Given the description of an element on the screen output the (x, y) to click on. 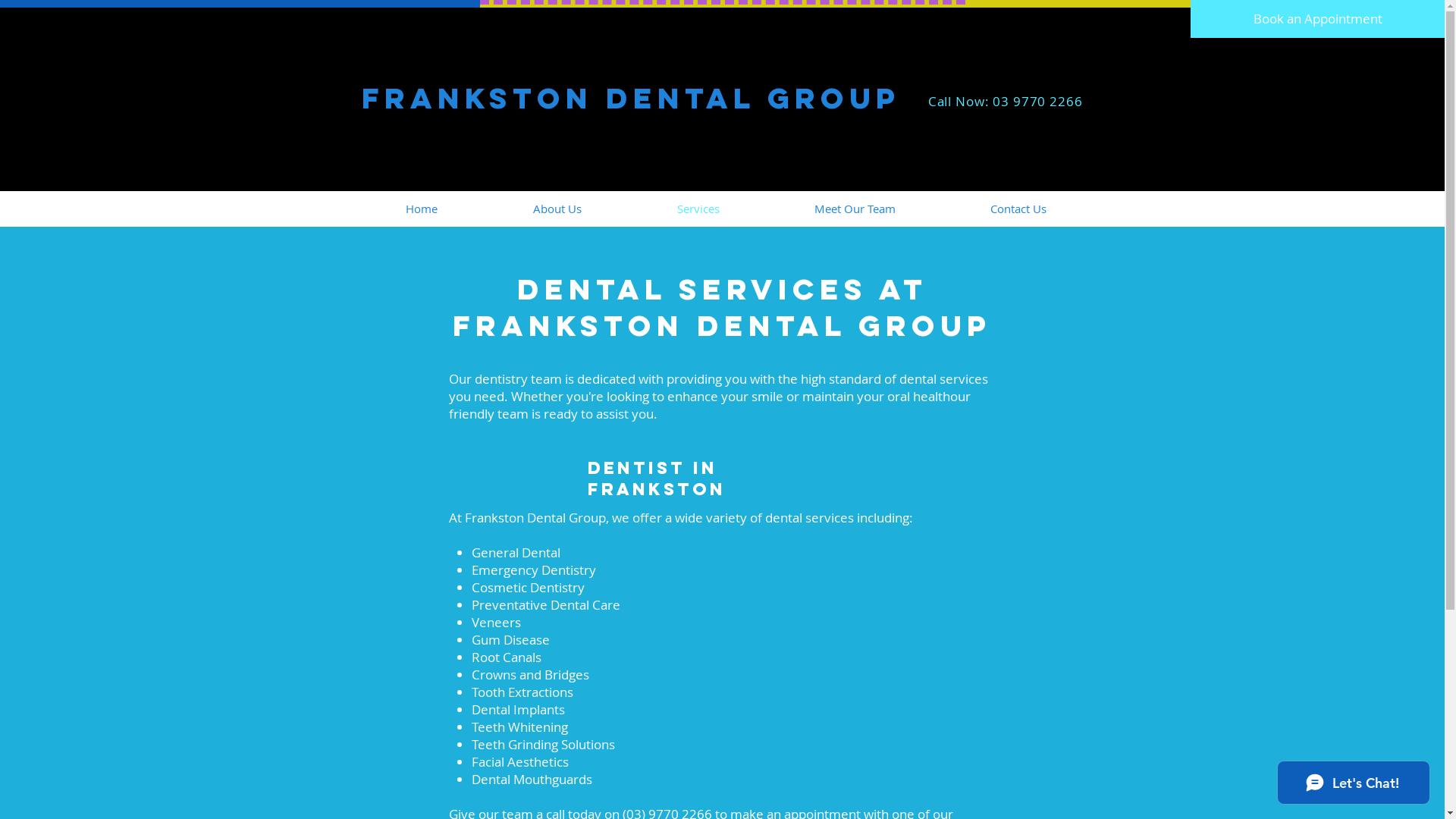
Call Now: 03 9770 2266 Element type: text (1005, 100)
Services Element type: text (698, 208)
Meet Our Team Element type: text (855, 208)
Frankston dental group Element type: text (629, 97)
Book an Appointment Element type: text (1317, 18)
Home Element type: text (421, 208)
About Us Element type: text (557, 208)
Contact Us Element type: text (1018, 208)
